Given the description of an element on the screen output the (x, y) to click on. 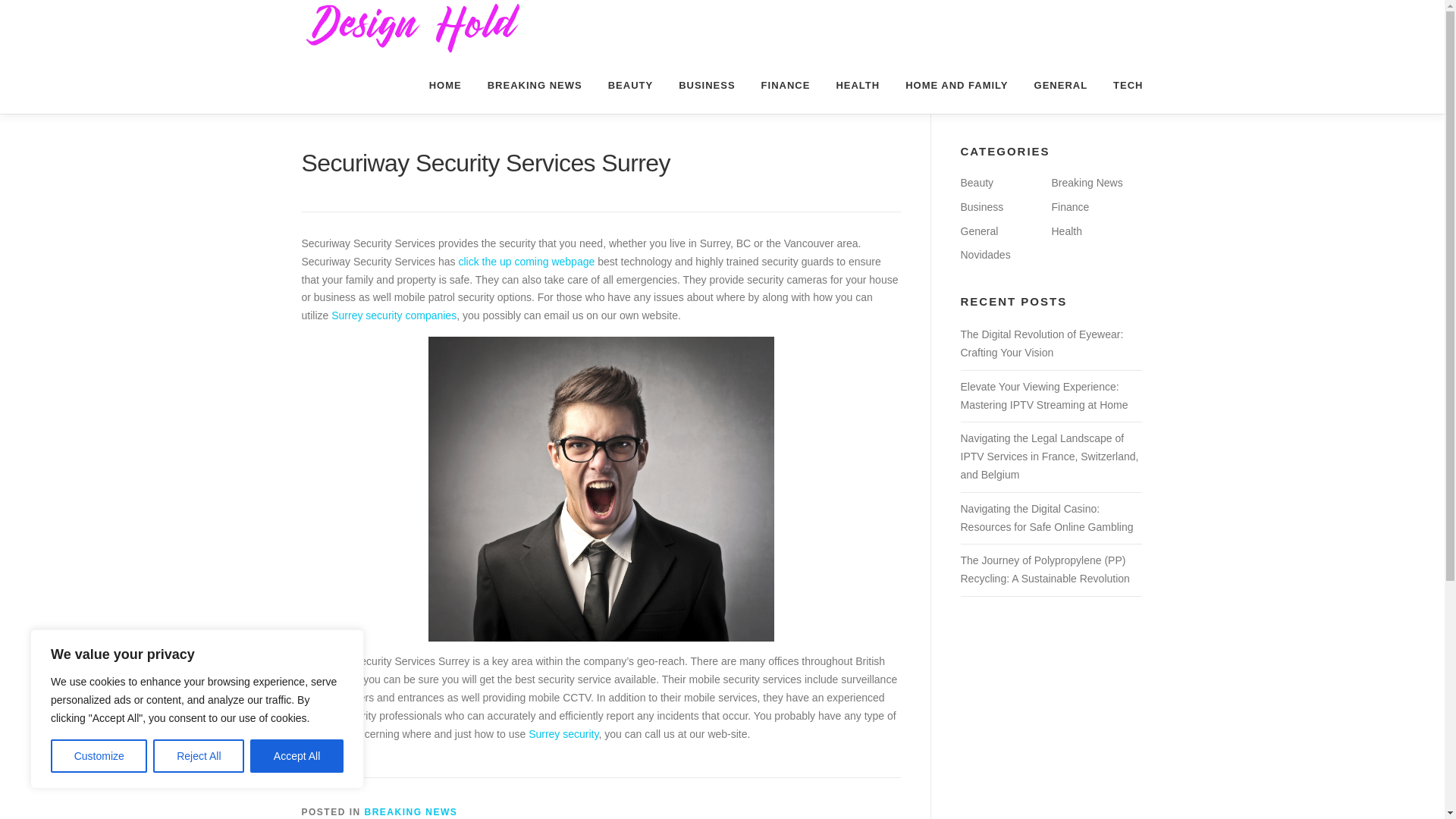
BREAKING NEWS (411, 811)
Customize (98, 756)
Surrey security companies (394, 315)
Accept All (296, 756)
HEALTH (857, 84)
Finance (1070, 206)
FINANCE (786, 84)
HOME (445, 84)
Beauty (975, 182)
Breaking News (1086, 182)
